Given the description of an element on the screen output the (x, y) to click on. 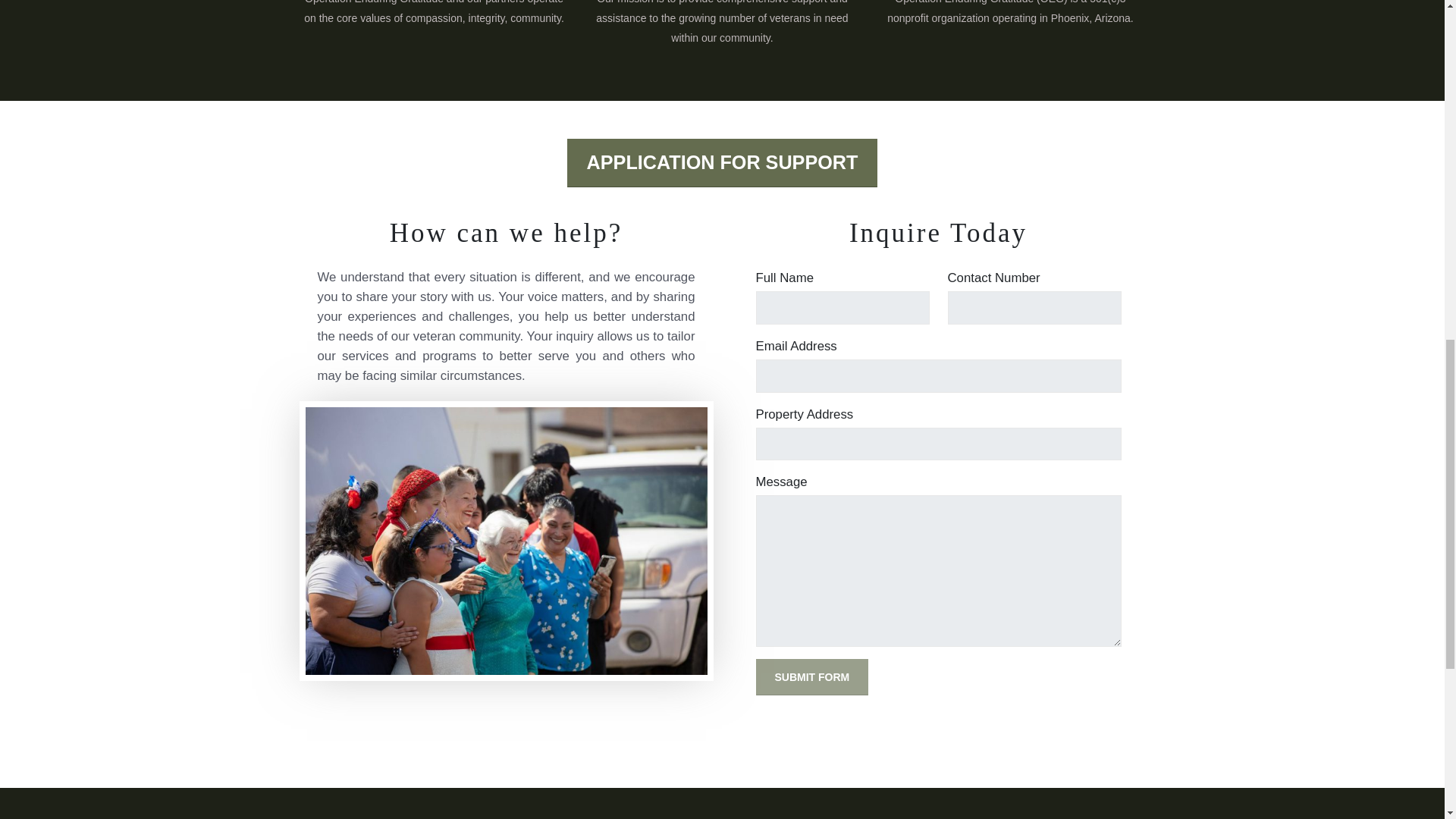
APPLICATION FOR SUPPORT (722, 162)
Submit Form (811, 677)
Submit Form (811, 677)
